Given the description of an element on the screen output the (x, y) to click on. 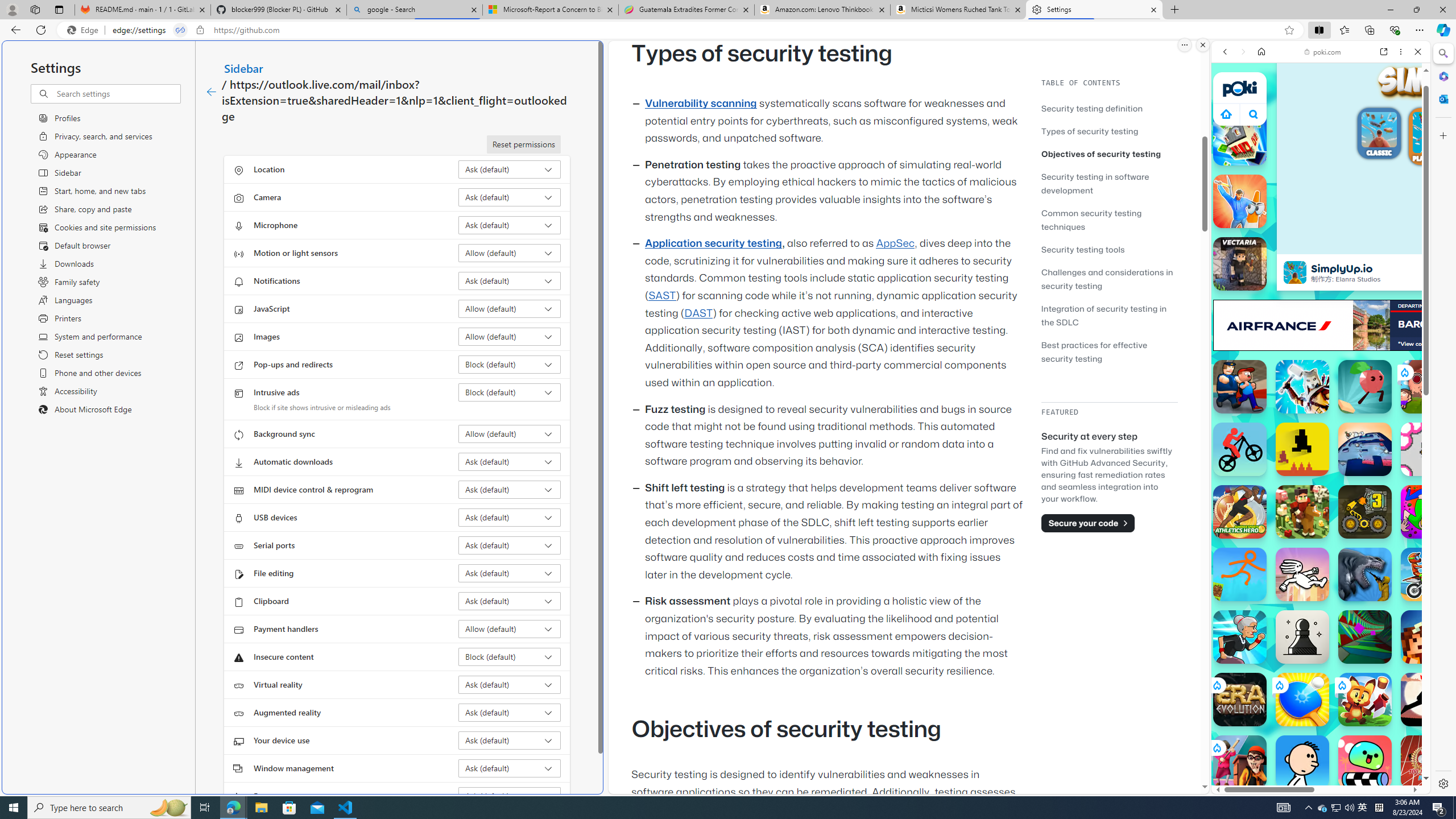
Fonts Ask (default) (509, 796)
JavaScript Allow (default) (509, 308)
Blumgi Slime (1364, 761)
Two Player Games (1320, 323)
Poki - Free Online Games - Play Now! (1315, 175)
School Escape! School Escape! (1239, 761)
More options. (1183, 45)
Combat Reloaded (1349, 580)
Secure your code (1088, 522)
Crazy Cars (1419, 574)
Era: Evolution (1239, 699)
